Given the description of an element on the screen output the (x, y) to click on. 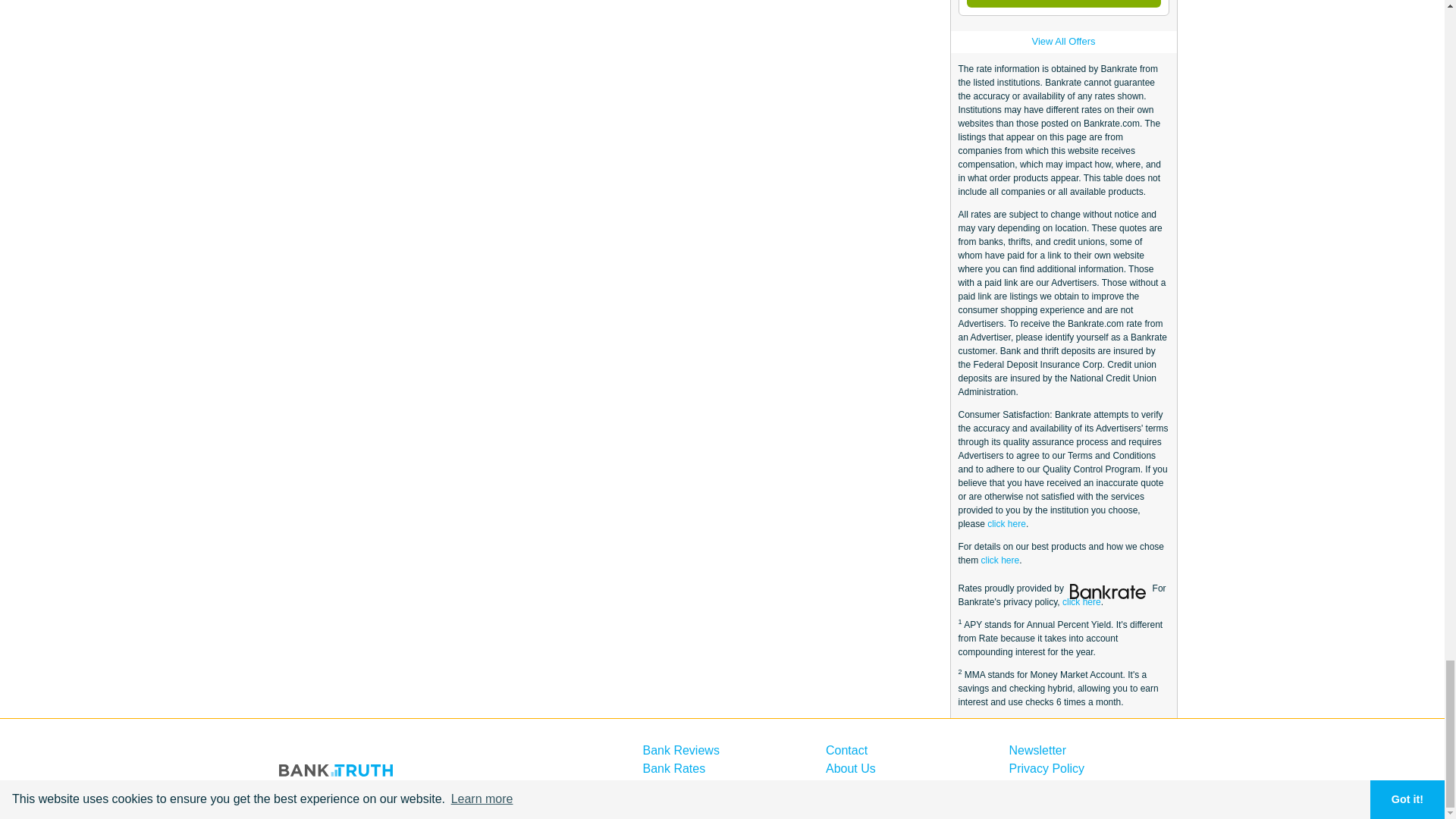
click here (1081, 602)
click here (1000, 560)
View All Offers (1062, 41)
Next (1063, 3)
click here (1006, 523)
